Given the description of an element on the screen output the (x, y) to click on. 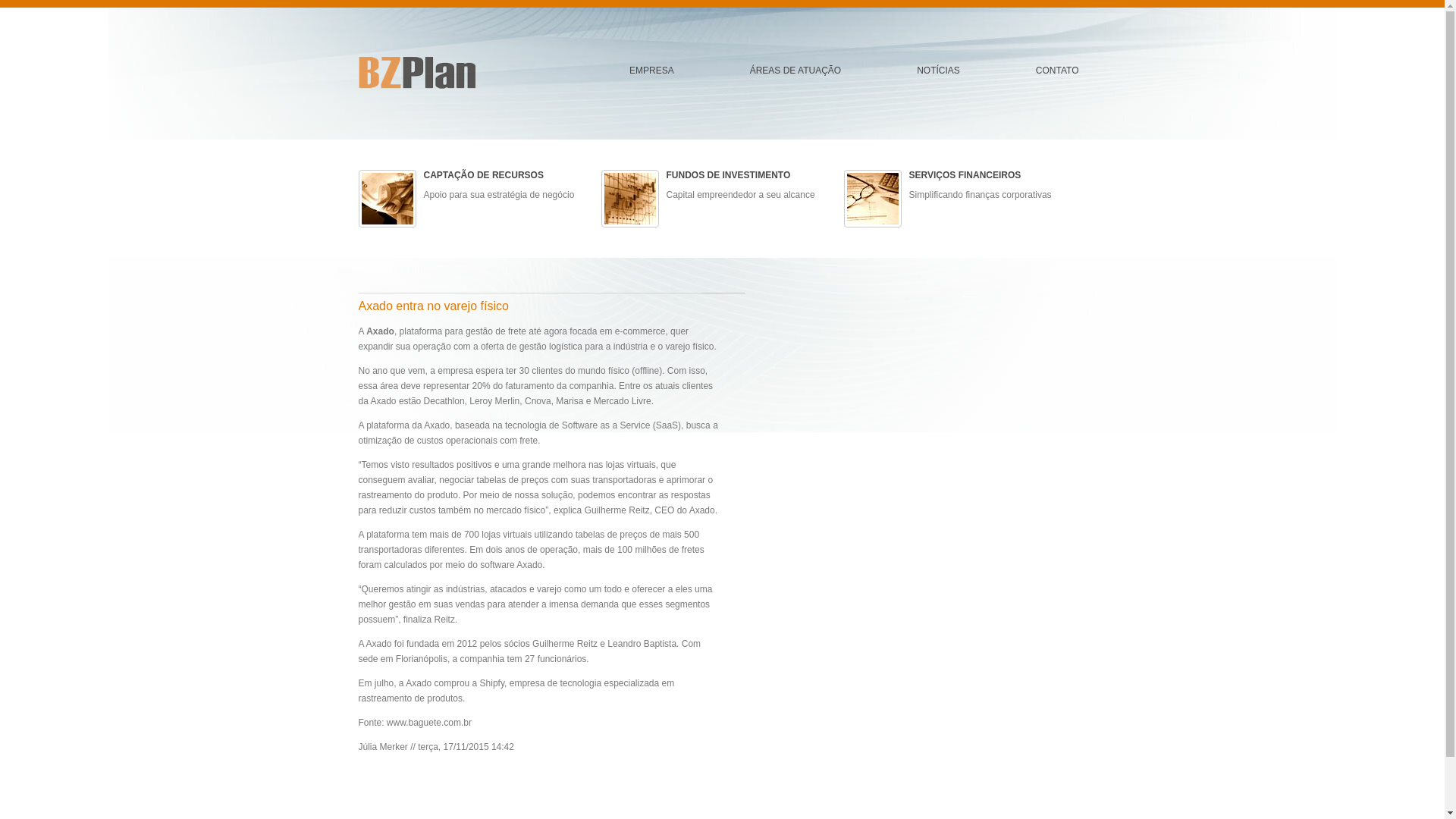
EMPRESA Element type: text (651, 70)
CONTATO Element type: text (1057, 70)
FUNDOS DE INVESTIMENTO Element type: text (727, 174)
BZPlan Element type: text (415, 72)
Fundos de Investimento Element type: hover (629, 198)
